Given the description of an element on the screen output the (x, y) to click on. 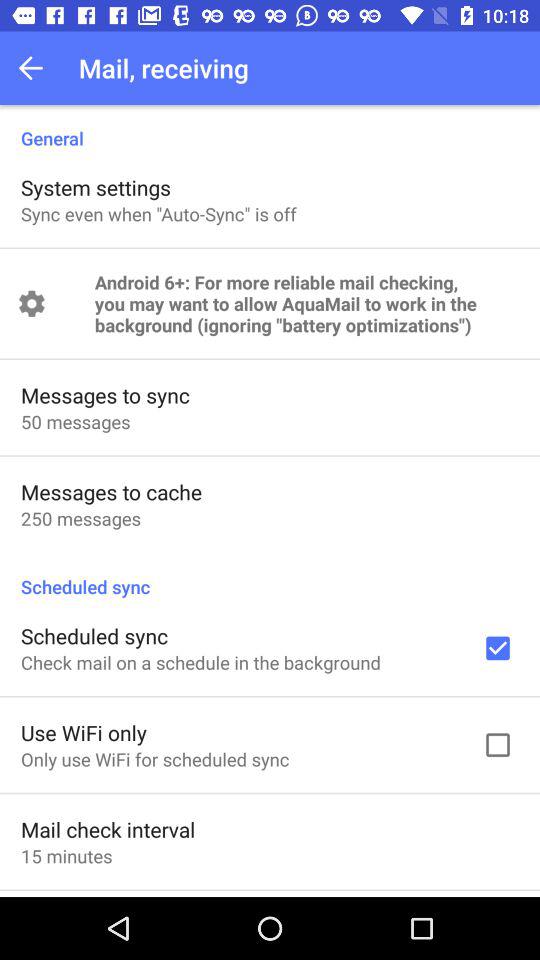
turn off app below system settings (158, 213)
